Given the description of an element on the screen output the (x, y) to click on. 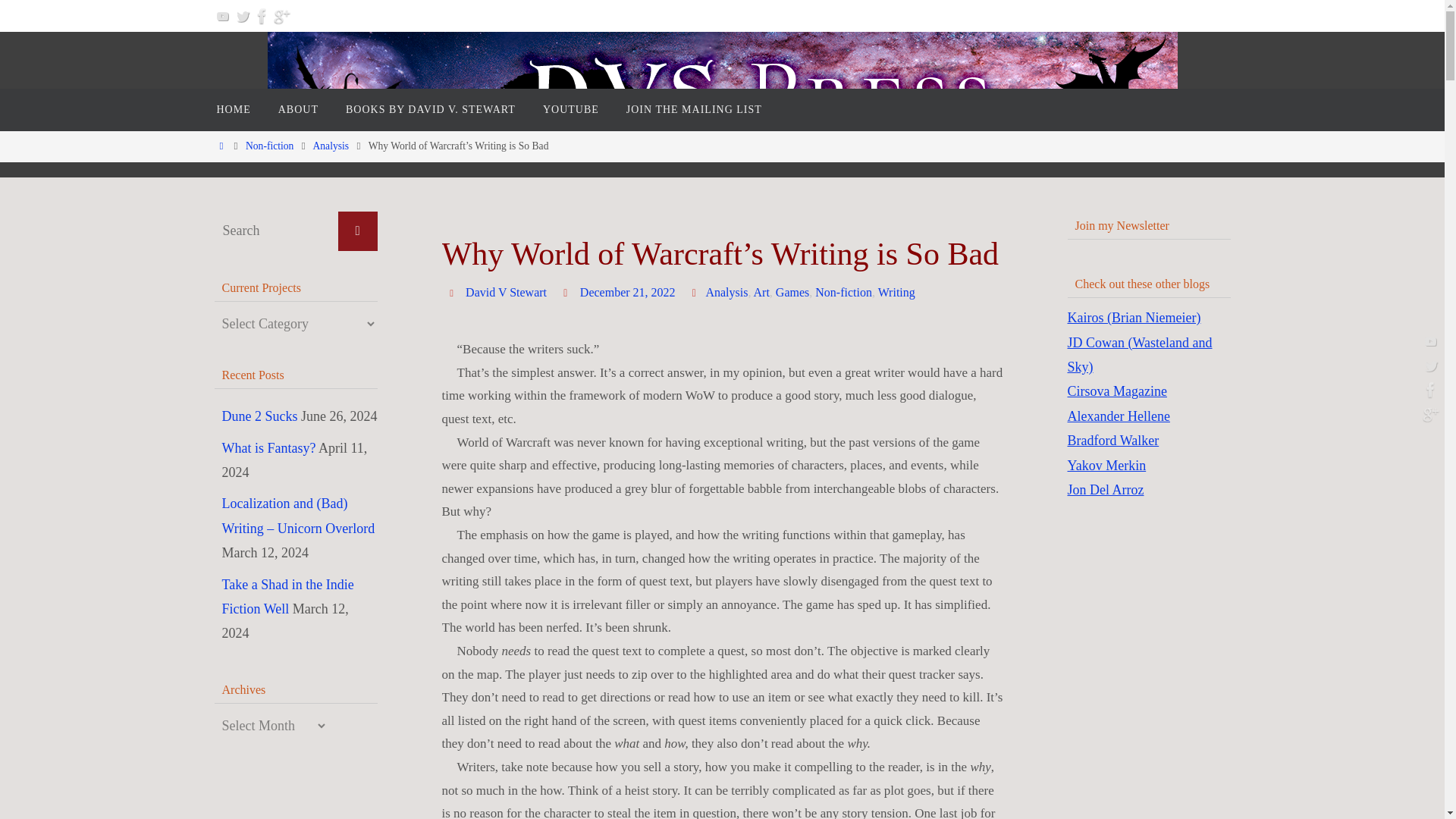
YouTube (222, 15)
Author  (453, 291)
December 21, 2022 (627, 292)
Twitter (242, 15)
David V Stewart (506, 292)
HOME (233, 109)
Home (221, 145)
GooglePlus (281, 15)
Analysis (331, 145)
Facebook (262, 15)
